Given the description of an element on the screen output the (x, y) to click on. 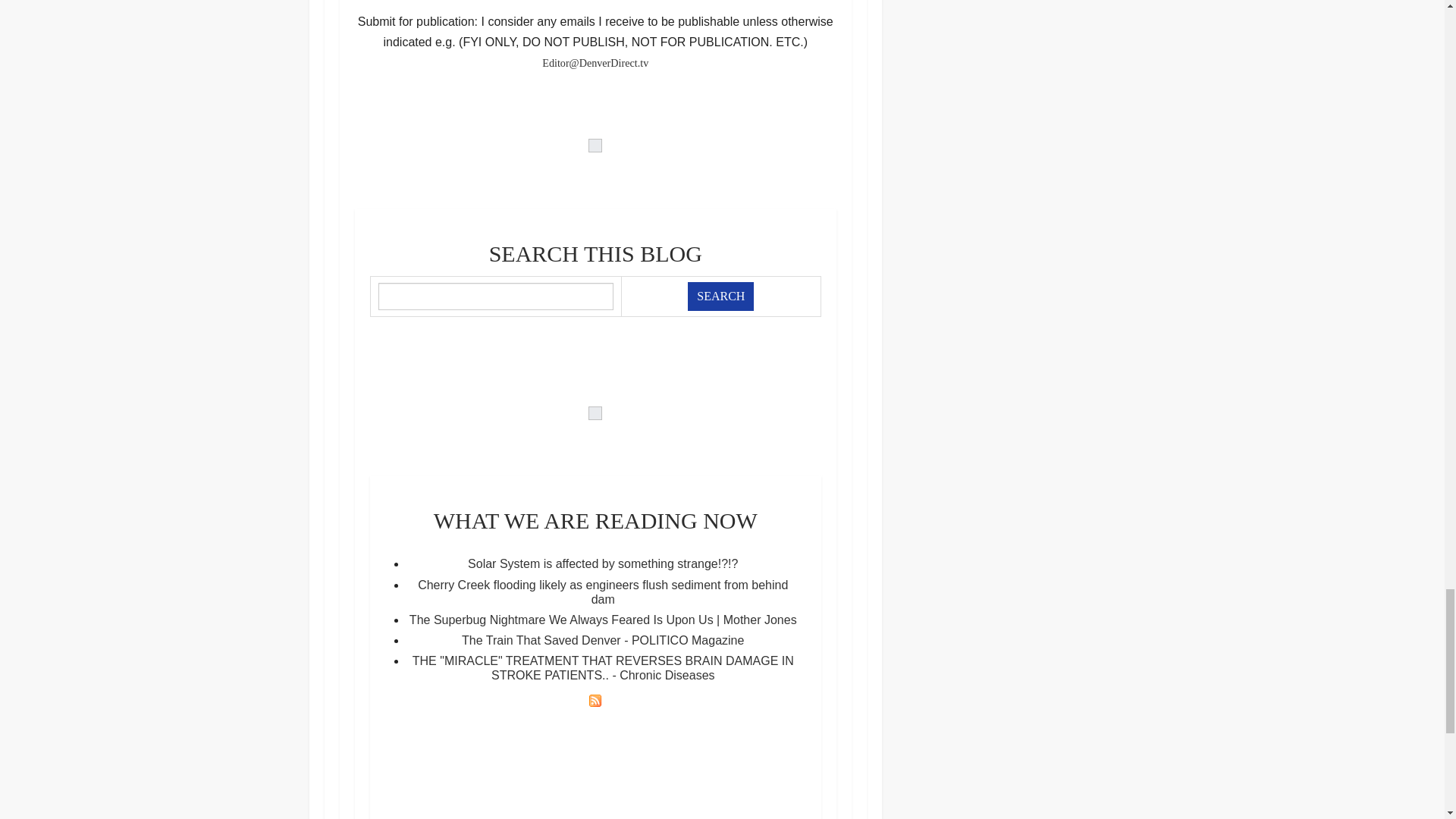
The Train That Saved Denver - POLITICO Magazine (602, 640)
Search (720, 296)
Solar System is affected by something strange!?!? (602, 563)
Search (720, 296)
search (720, 296)
Search (720, 296)
search (494, 296)
